Given the description of an element on the screen output the (x, y) to click on. 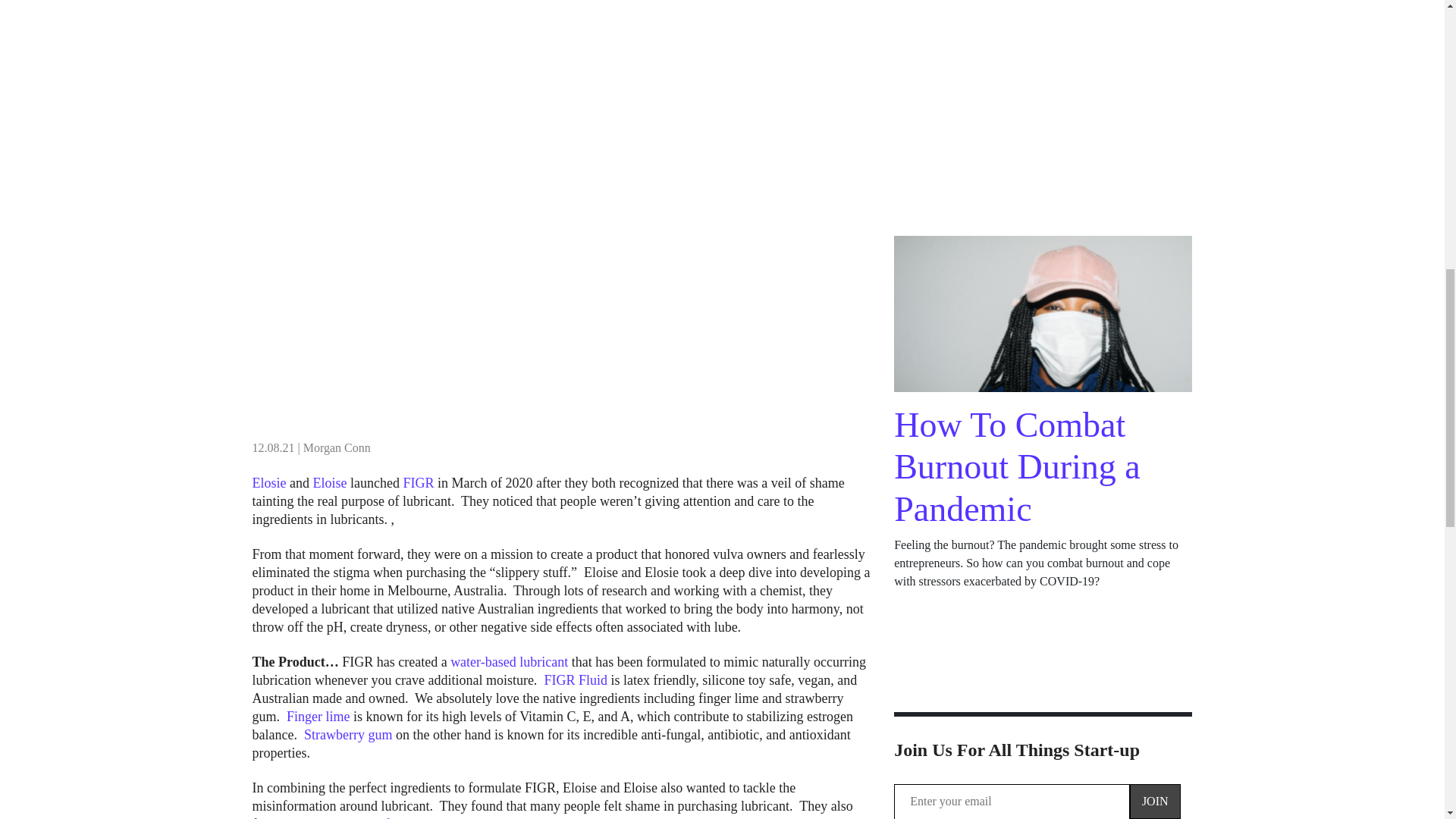
Finger lime (318, 716)
water-based lubricant (508, 661)
JOIN (1154, 801)
Eloise (329, 482)
Elosie (268, 482)
FIGR Fluid (575, 679)
Advertisement (1042, 111)
How To Combat Burnout During a Pandemic (1016, 466)
FIGR (418, 482)
